Given the description of an element on the screen output the (x, y) to click on. 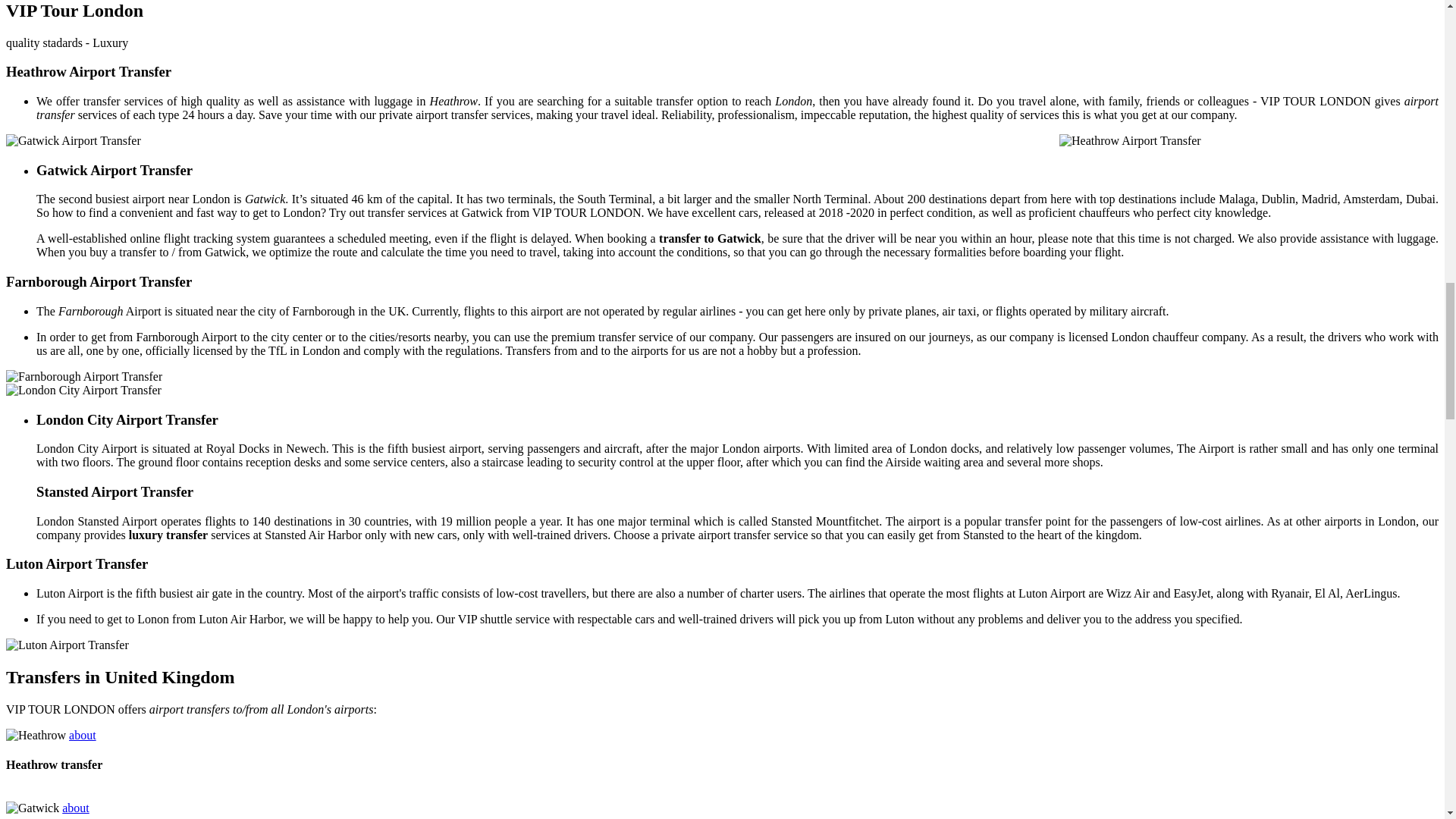
Heathrow (35, 735)
Gatwick Airport Transfer (73, 141)
London City Airport Transfer (83, 390)
Farnborough Airport Transfer (83, 377)
Luton Airport Transfer (67, 644)
Gatwick (32, 807)
